Given the description of an element on the screen output the (x, y) to click on. 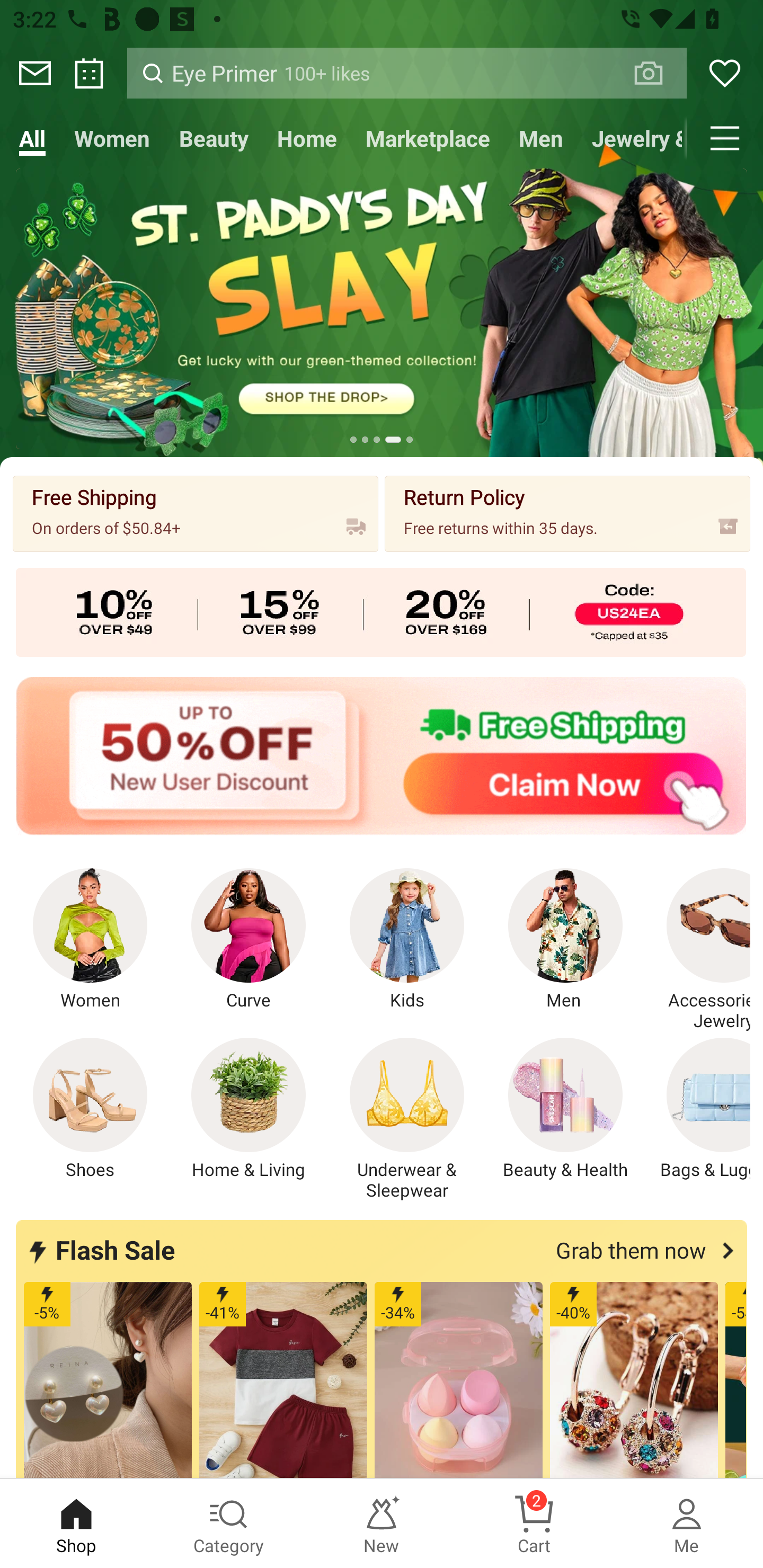
Wishlist (724, 72)
VISUAL SEARCH (657, 72)
All (31, 137)
Women (111, 137)
Beauty (213, 137)
Home (306, 137)
Marketplace (427, 137)
Men (540, 137)
Jewelry & Accs (631, 137)
Free Shipping On orders of $50.84+ (195, 513)
Return Policy Free returns within 35 days. (567, 513)
Women (89, 939)
Curve (248, 939)
Kids (406, 939)
Men  (565, 939)
Accessories & Jewelry (698, 949)
Shoes (89, 1109)
Home & Living (248, 1109)
Underwear & Sleepwear (406, 1119)
Beauty & Health (565, 1109)
Bags & Luggage (698, 1109)
Category (228, 1523)
New (381, 1523)
Cart 2 Cart (533, 1523)
Me (686, 1523)
